Given the description of an element on the screen output the (x, y) to click on. 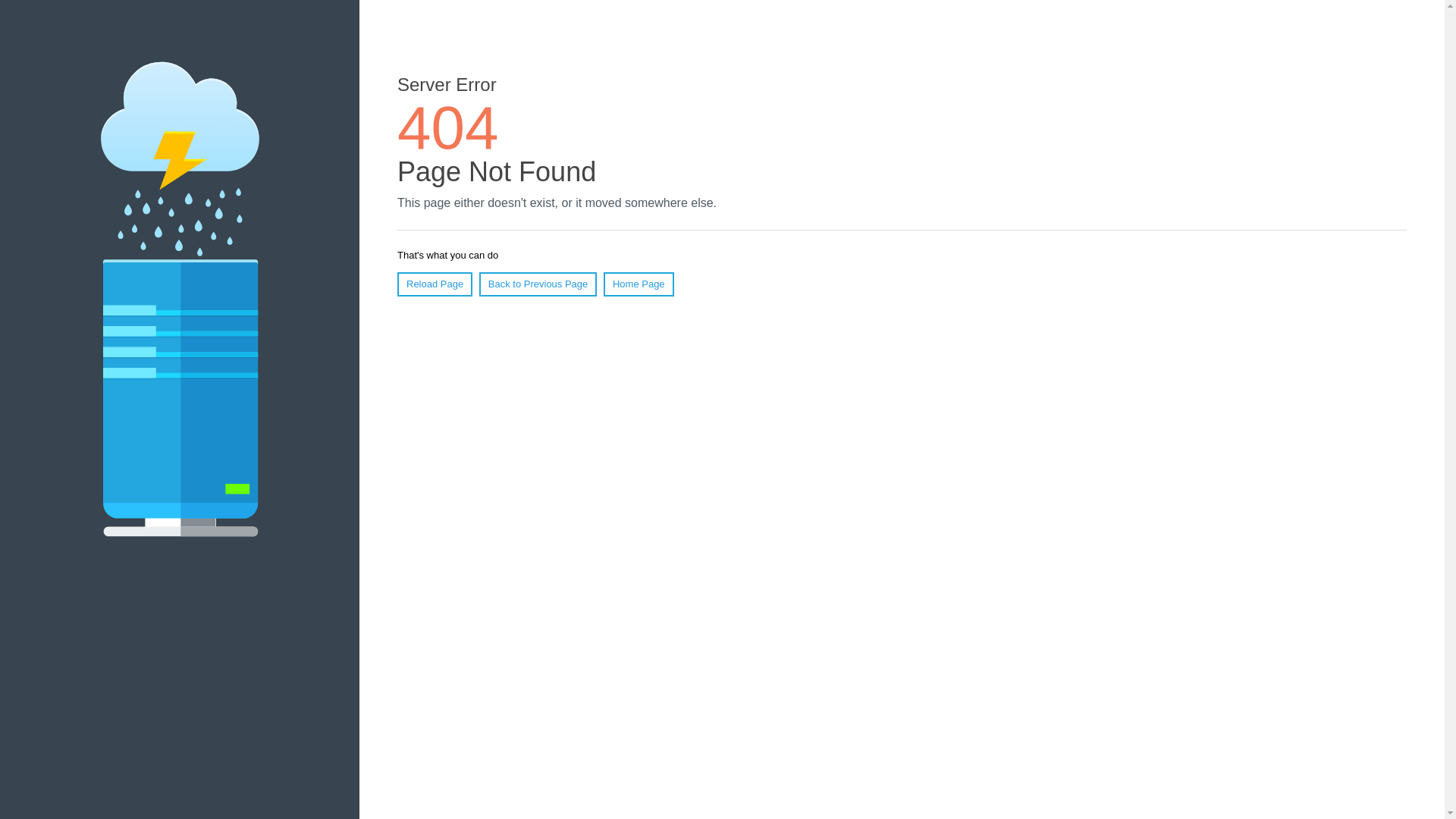
Back to Previous Page Element type: text (538, 284)
Home Page Element type: text (638, 284)
Reload Page Element type: text (434, 284)
